Given the description of an element on the screen output the (x, y) to click on. 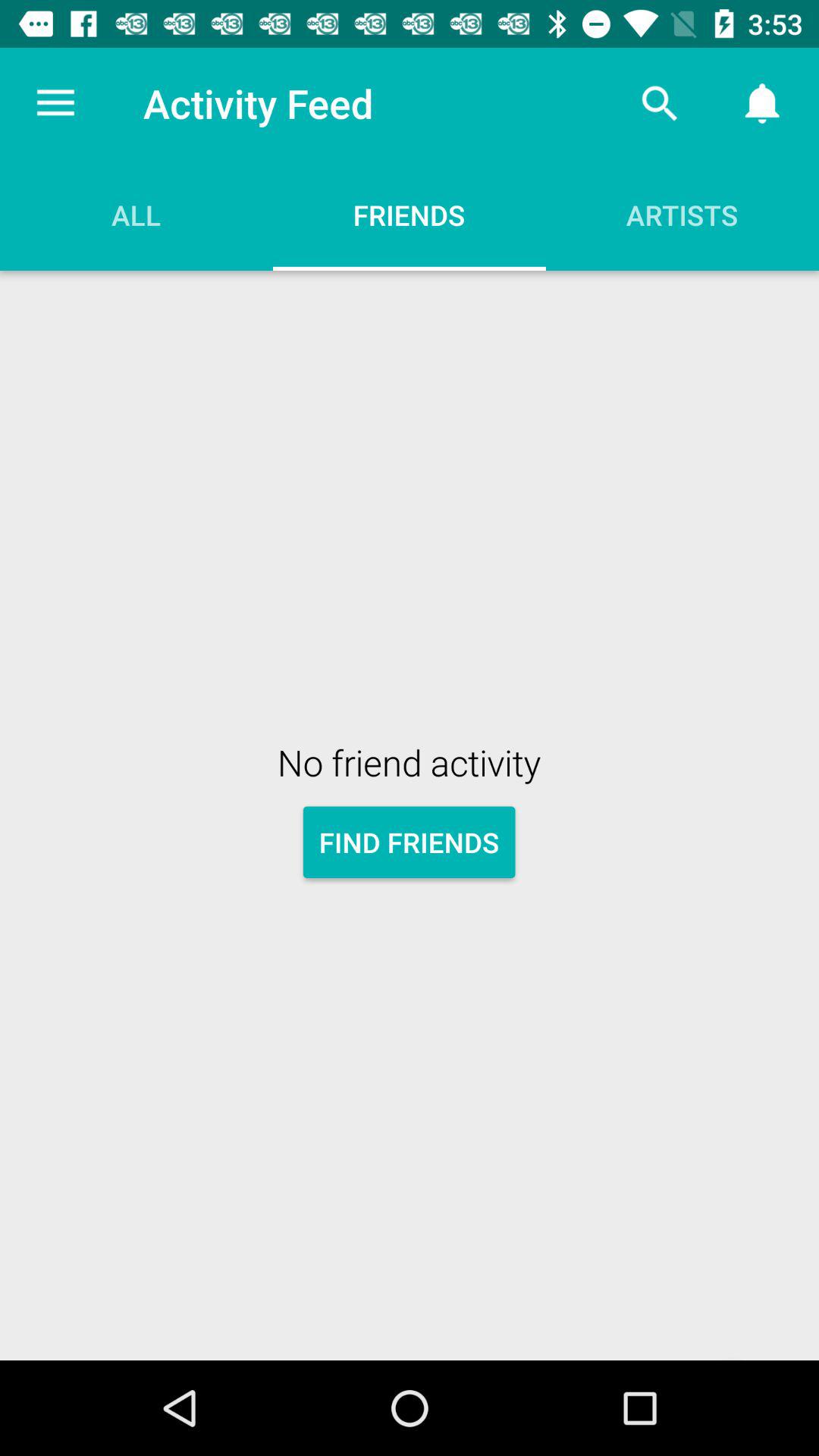
tap the item below the no friend activity (409, 842)
